Given the description of an element on the screen output the (x, y) to click on. 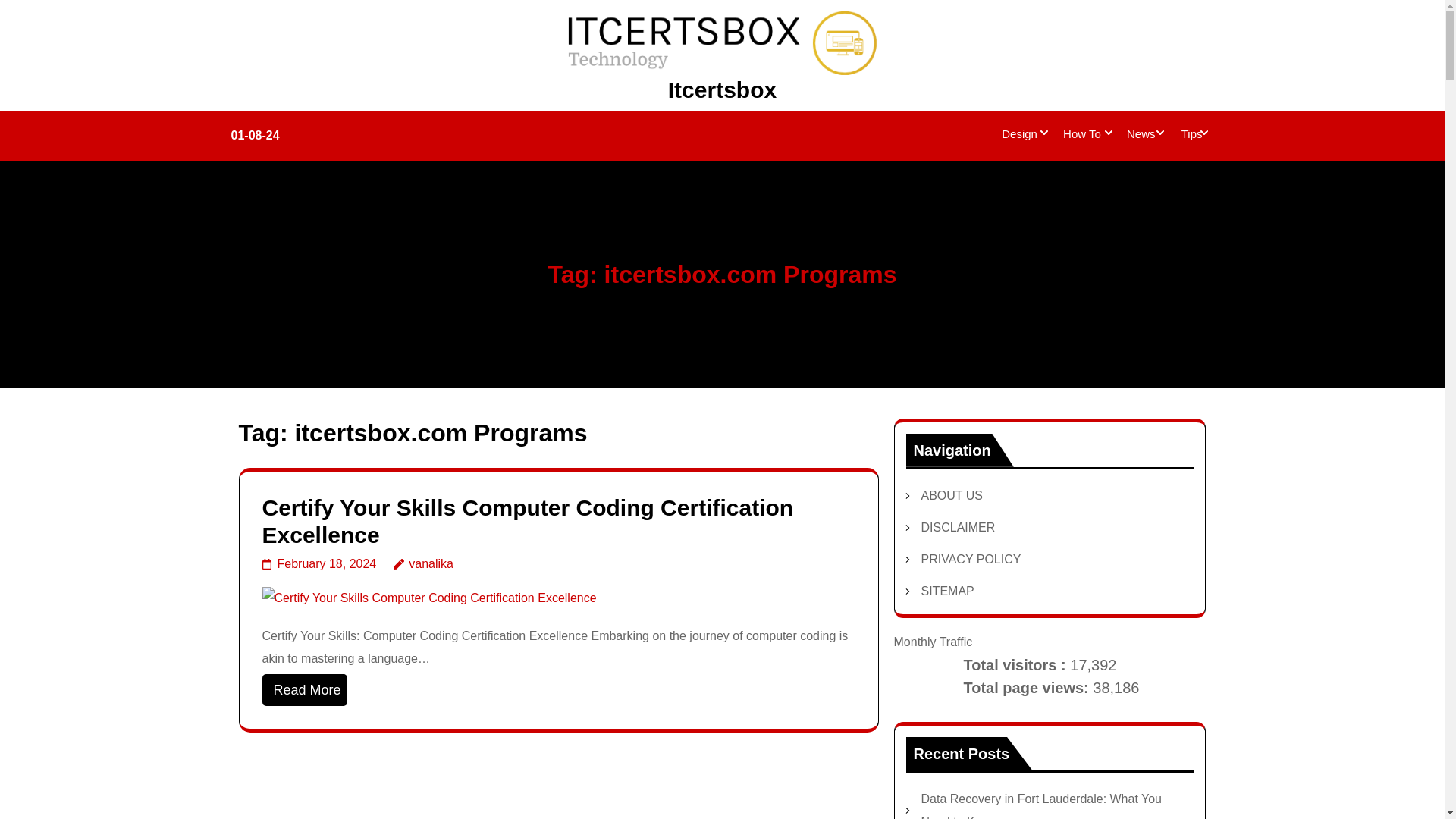
Certify Your Skills Computer Coding Certification Excellence (429, 598)
Certify Your Skills Computer Coding Certification Excellence (527, 521)
News (1141, 135)
Data Recovery in Fort Lauderdale: What You Need to Know (1040, 805)
Itcertsbox (722, 89)
SITEMAP (947, 590)
PRIVACY POLICY (970, 558)
How To (1081, 135)
Read More (304, 689)
vanalika (422, 563)
DISCLAIMER (957, 526)
February 18, 2024 (319, 563)
Design (1018, 135)
ABOUT US (951, 495)
